Given the description of an element on the screen output the (x, y) to click on. 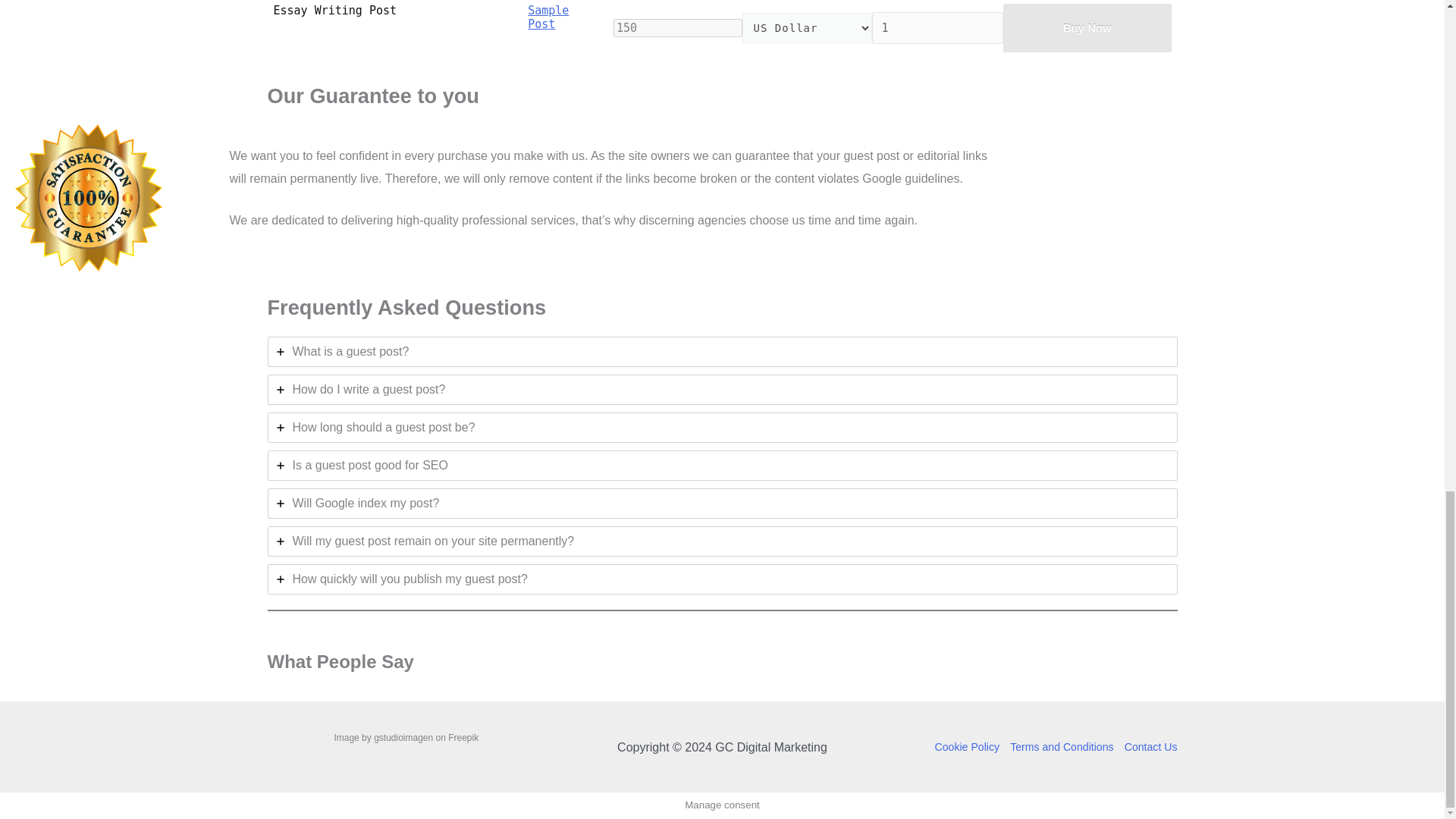
150 (677, 27)
Buy Now (1087, 28)
1 (937, 28)
